Given the description of an element on the screen output the (x, y) to click on. 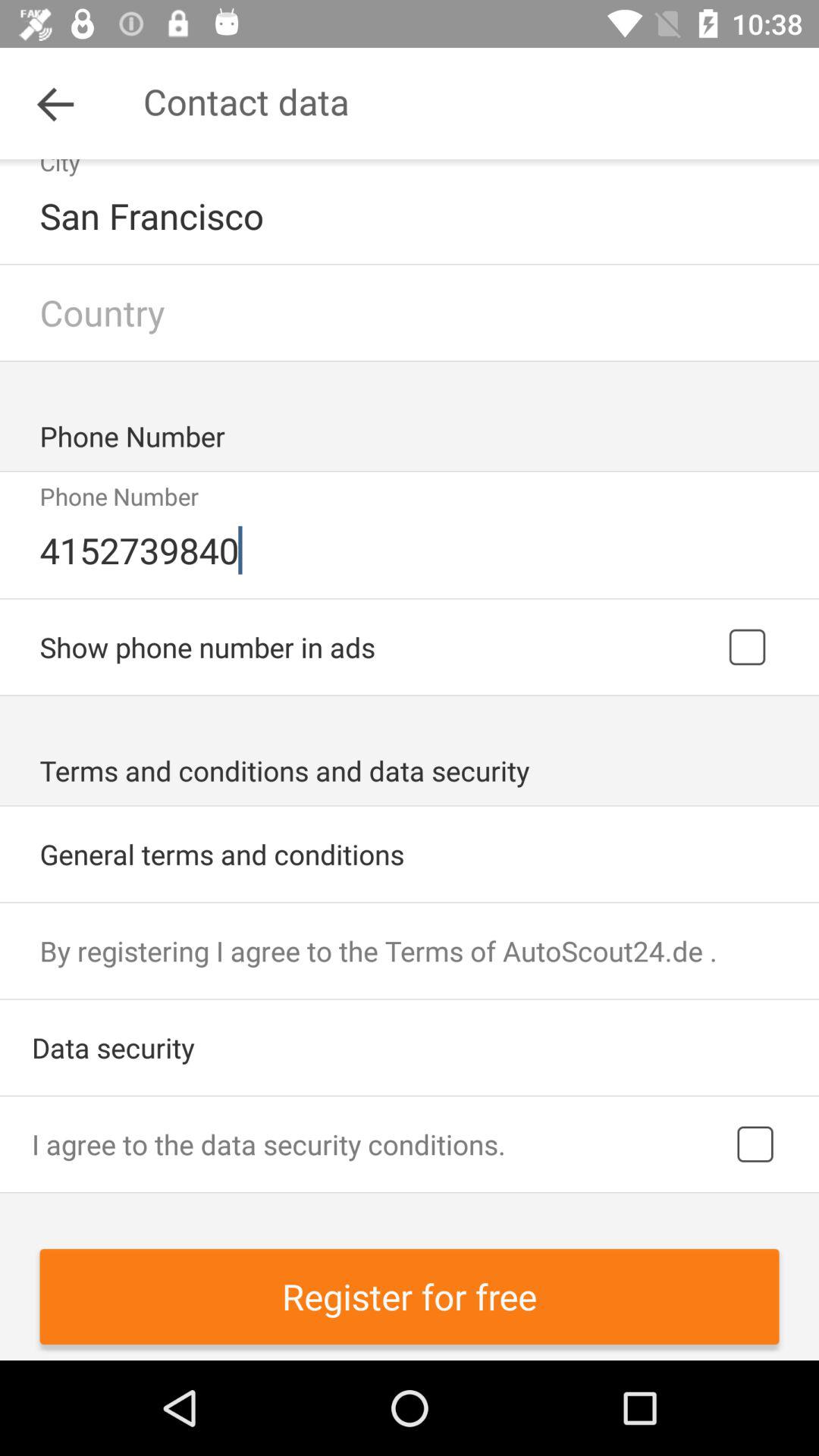
tap icon above city app (55, 103)
